Given the description of an element on the screen output the (x, y) to click on. 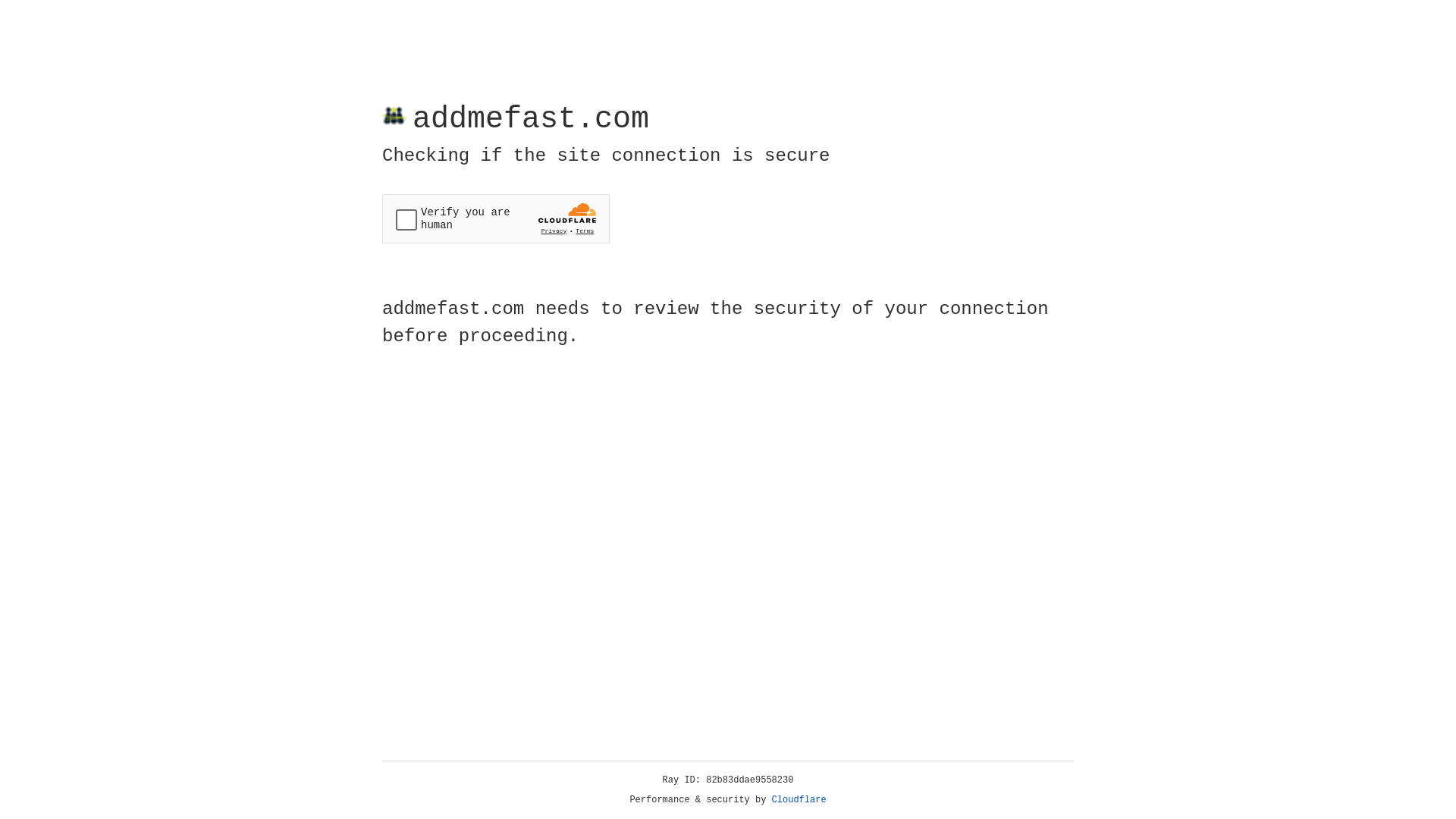
Cloudflare Element type: text (798, 799)
Widget containing a Cloudflare security challenge Element type: hover (495, 218)
